Given the description of an element on the screen output the (x, y) to click on. 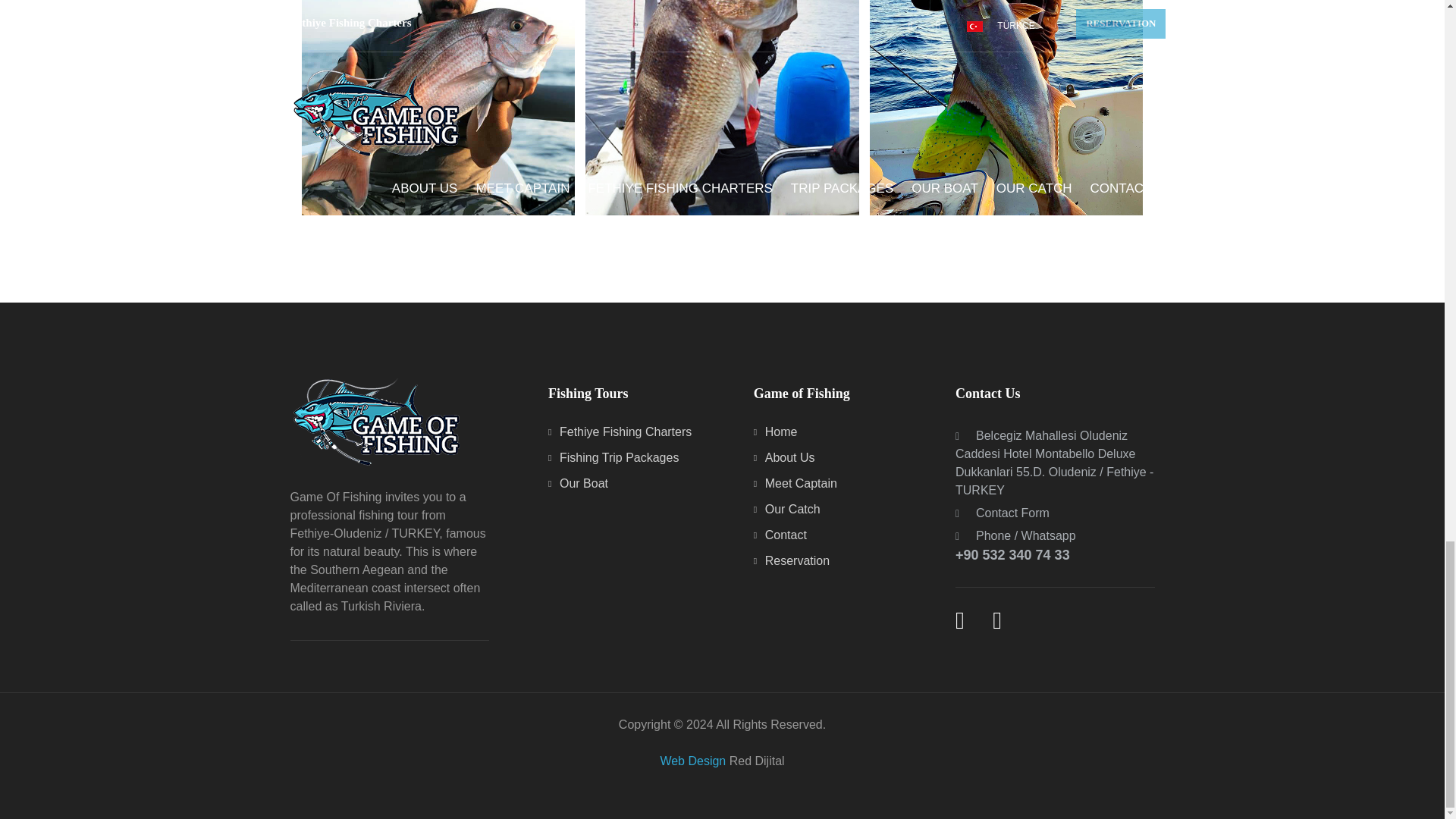
Fethiye Fishing Charters (619, 431)
Fishing Trip Packages (613, 457)
About Us (784, 457)
Home (775, 431)
Our Boat (578, 482)
